Given the description of an element on the screen output the (x, y) to click on. 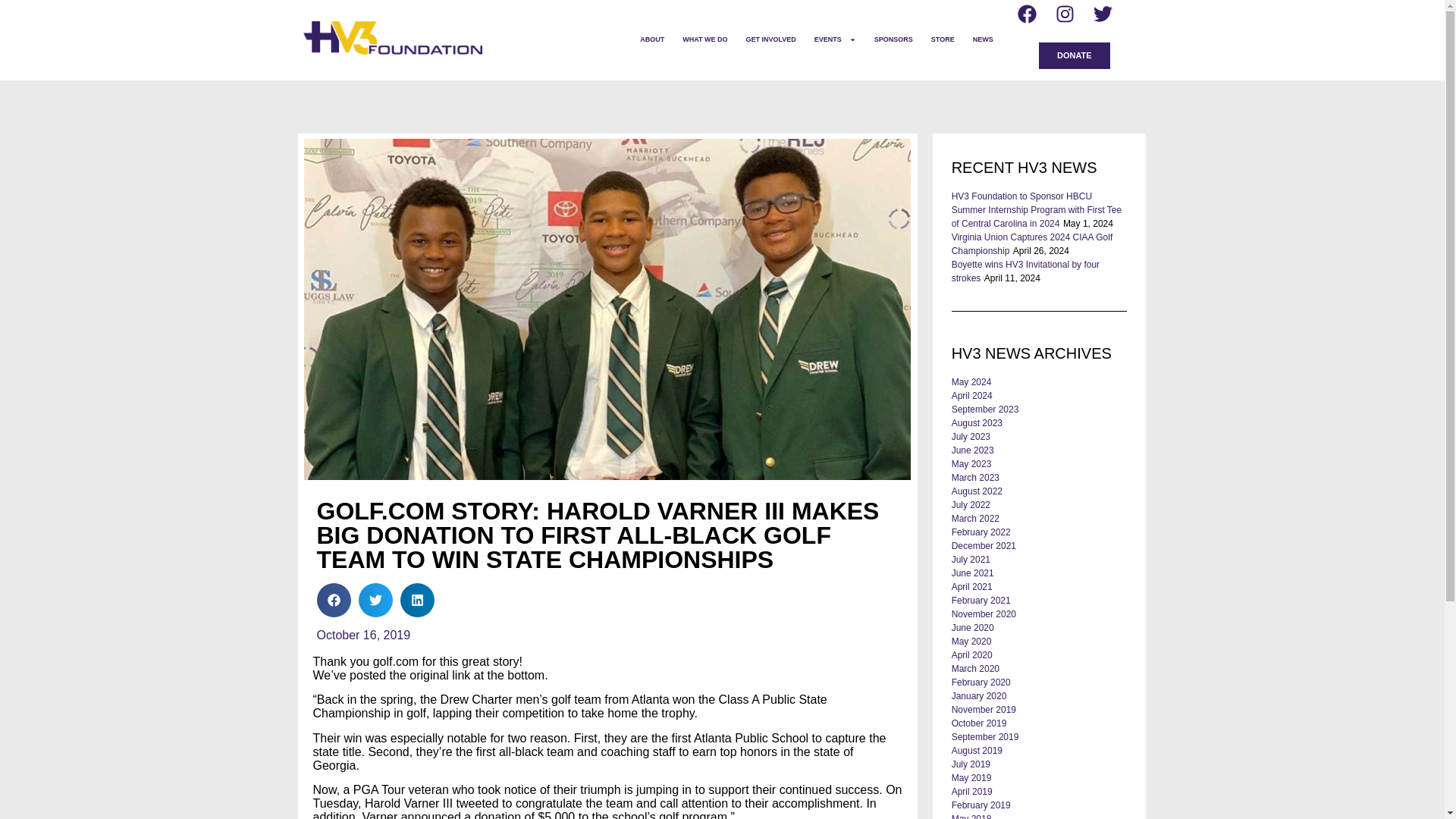
SPONSORS (893, 39)
GET INVOLVED (769, 39)
EVENTS (834, 39)
WHAT WE DO (704, 39)
DONATE (1074, 55)
